Given the description of an element on the screen output the (x, y) to click on. 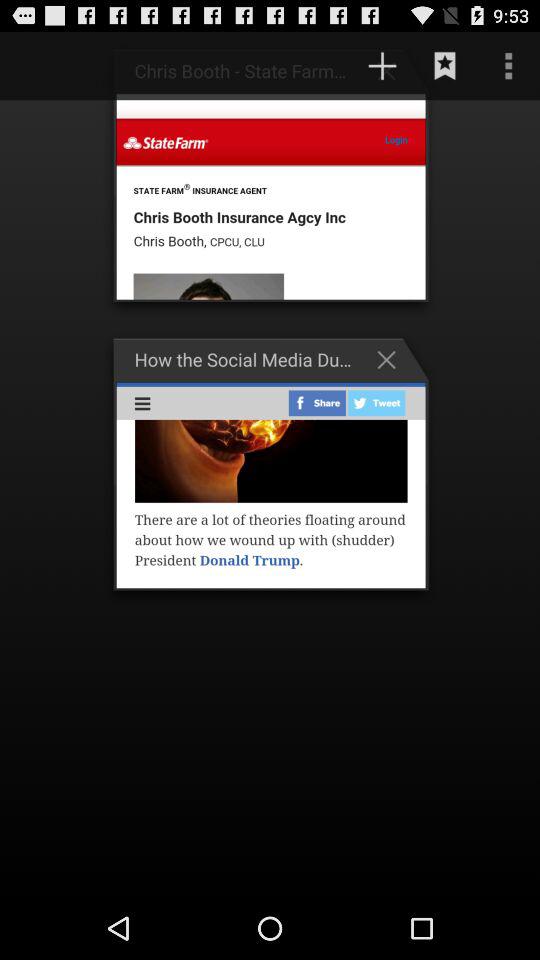
click on  symbol beside bookmark icon on the top right corner of the webpage (391, 70)
